Given the description of an element on the screen output the (x, y) to click on. 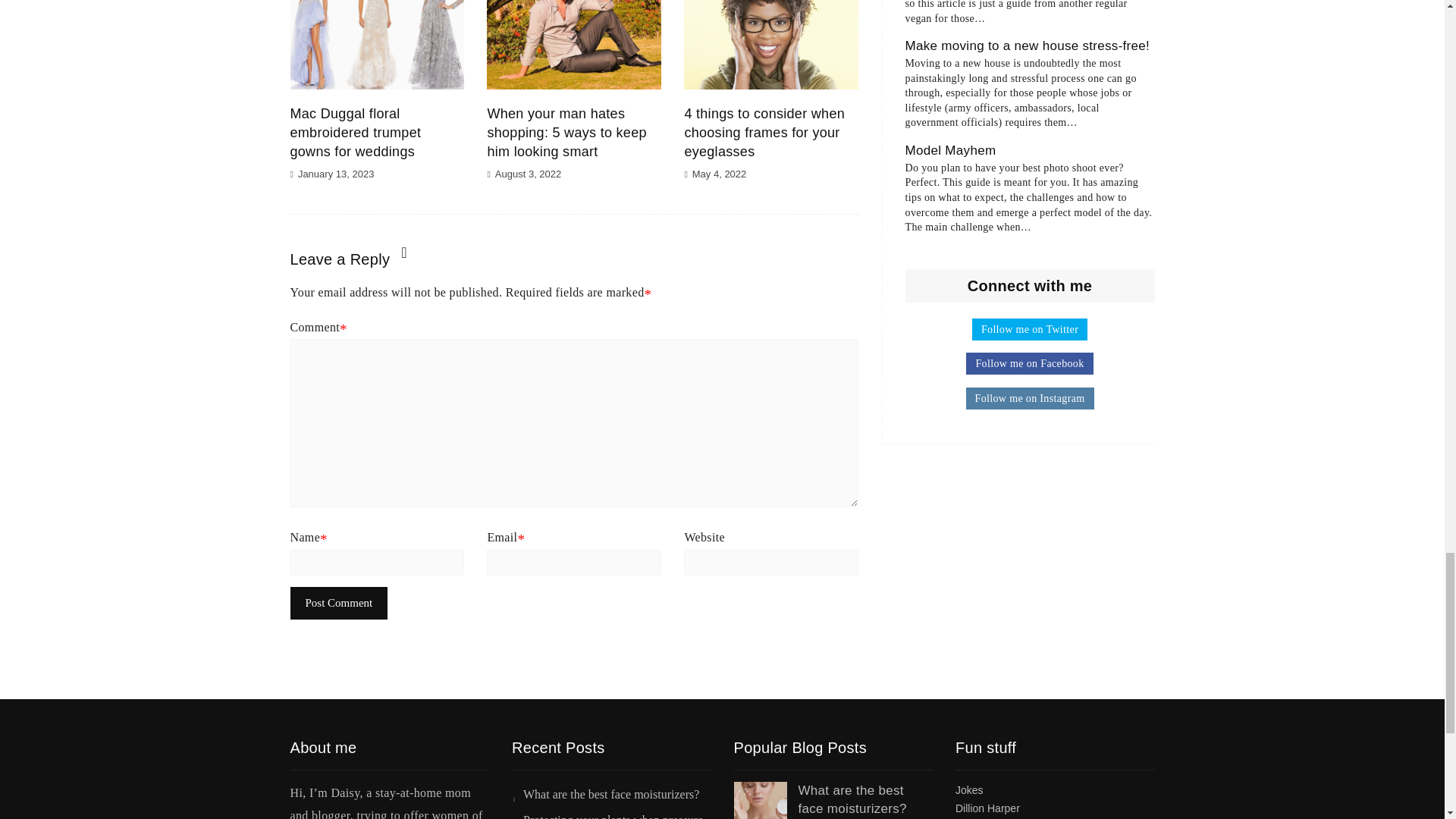
Mac Duggal floral embroidered trumpet gowns for weddings (354, 132)
Post Comment (338, 603)
